Given the description of an element on the screen output the (x, y) to click on. 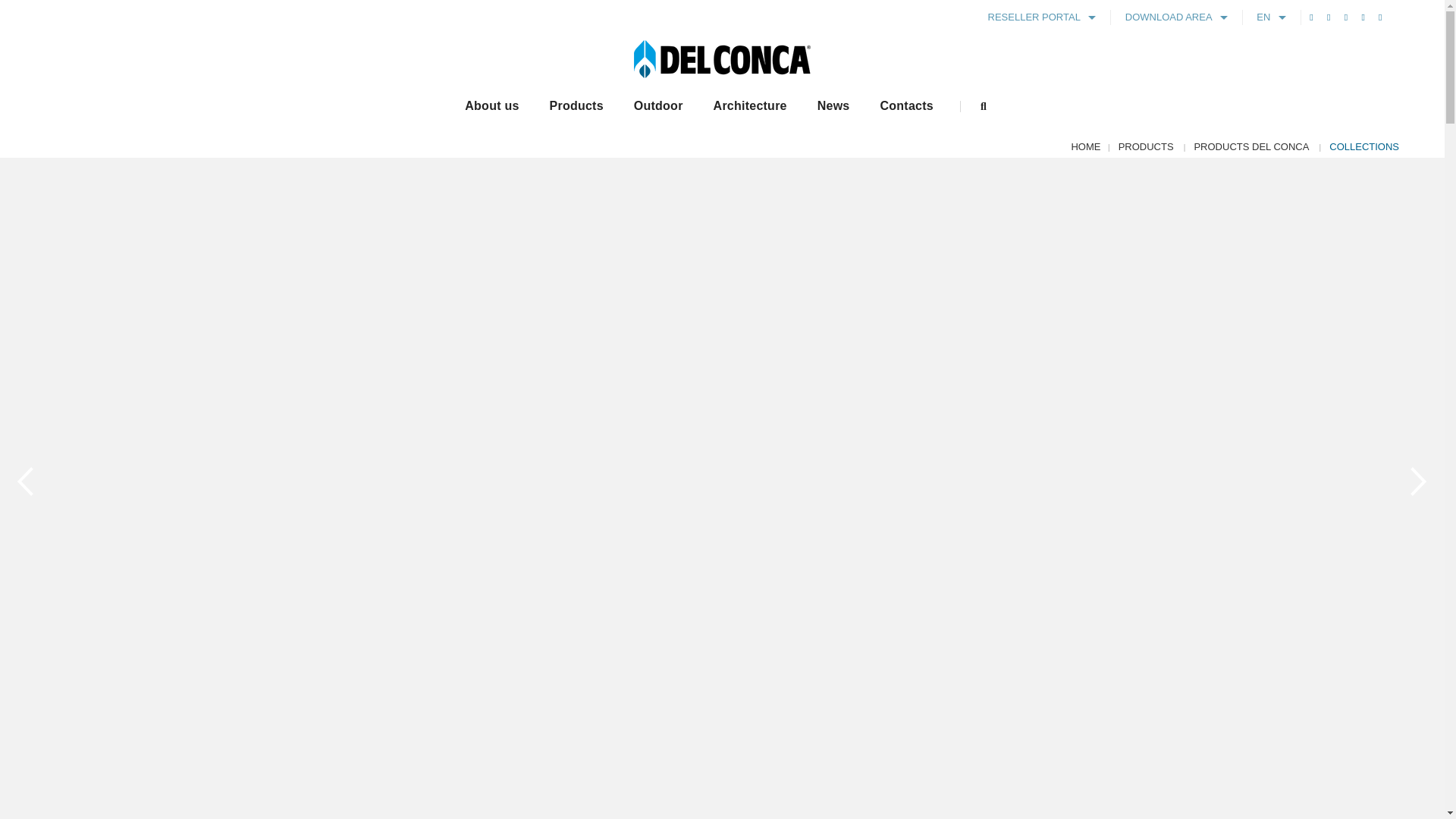
Ceramica del Conca Spa (721, 57)
EN   (1270, 17)
RESELLER PORTAL   (1042, 17)
DOWNLOAD AREA   (1176, 17)
